Given the description of an element on the screen output the (x, y) to click on. 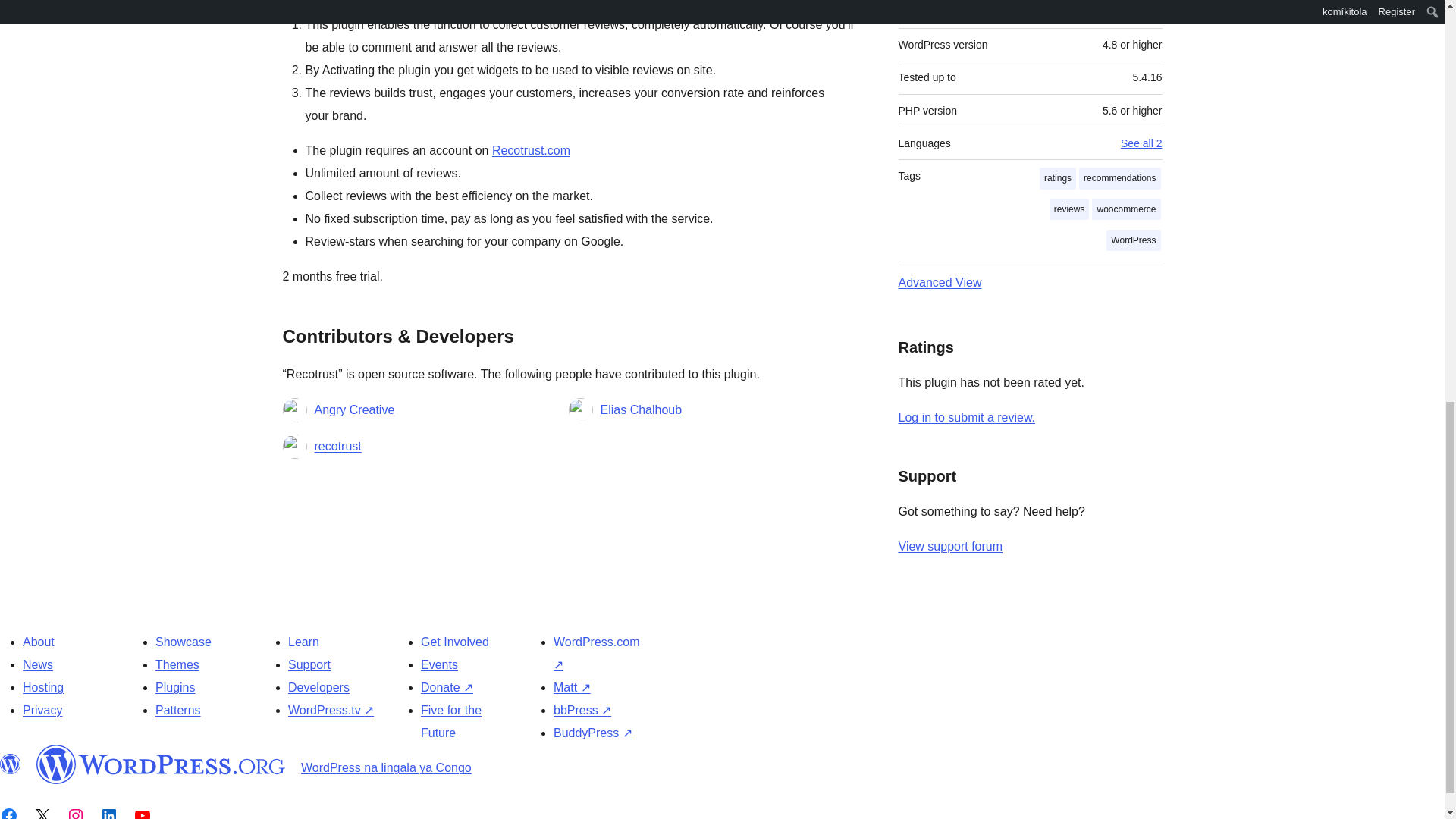
recotrust (337, 445)
Recotrust.com (531, 150)
Angry Creative (354, 409)
Recotrust.com (531, 150)
WordPress.org (160, 763)
Log in to WordPress.org (966, 417)
Elias Chalhoub (640, 409)
WordPress.org (10, 763)
